Given the description of an element on the screen output the (x, y) to click on. 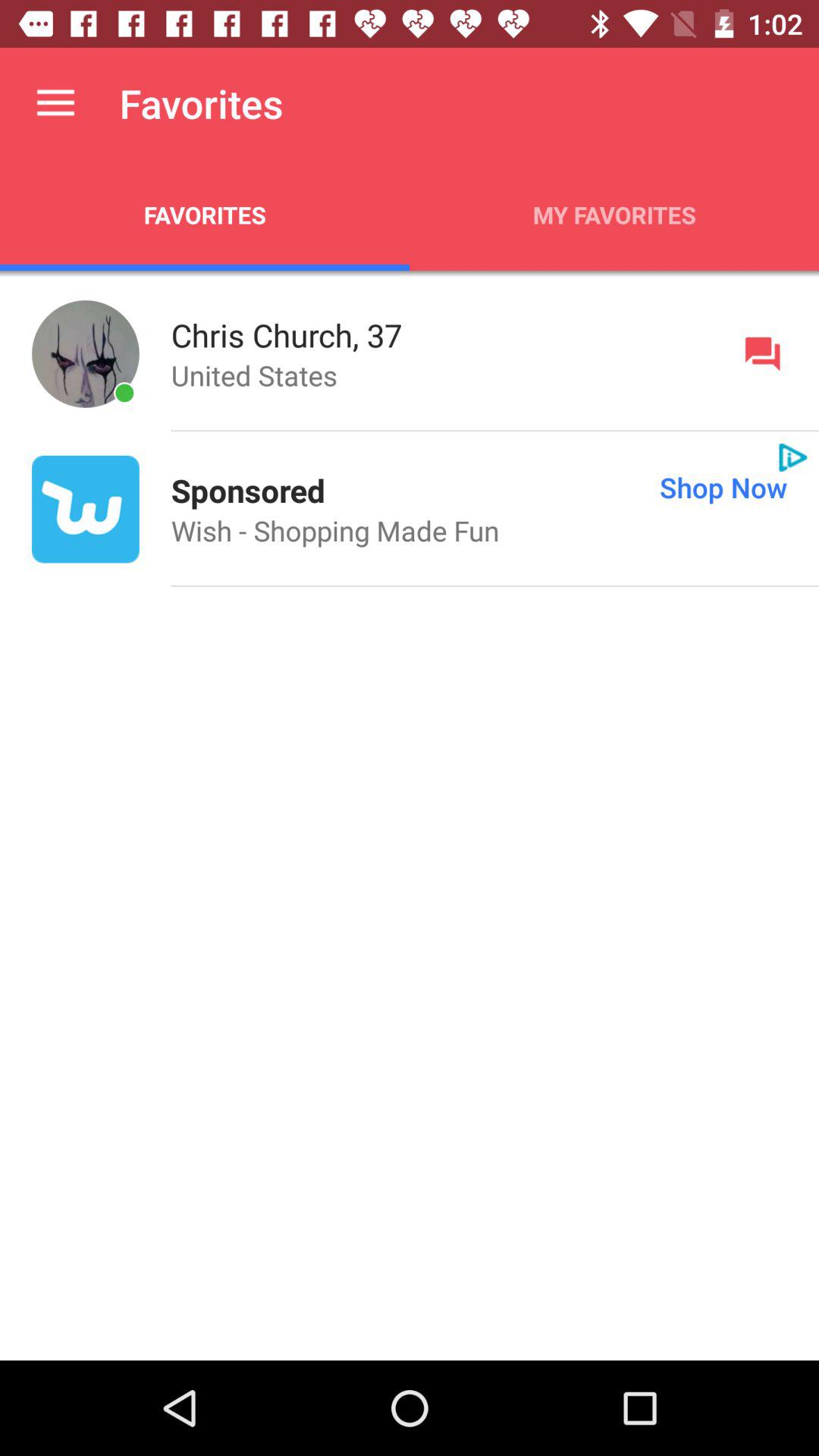
tap app next to favorites icon (55, 103)
